Given the description of an element on the screen output the (x, y) to click on. 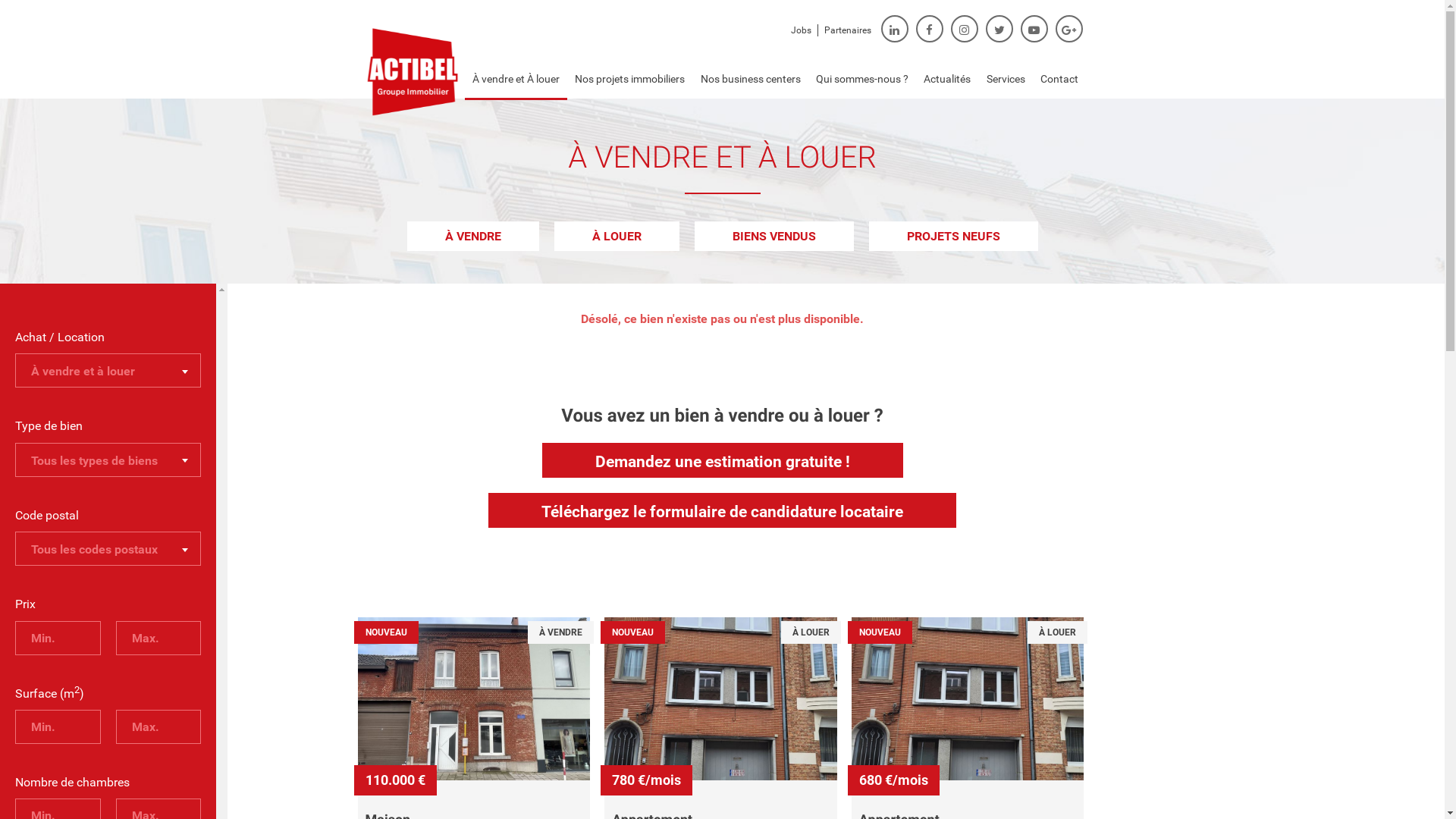
BIENS VENDUS Element type: text (773, 236)
Partenaires Element type: text (846, 30)
Demandez une estimation gratuite ! Element type: text (721, 460)
Jobs Element type: text (800, 30)
Services Element type: text (1005, 79)
Confirmer Element type: text (876, 345)
Nos business centers Element type: text (749, 79)
Nos projets immobiliers Element type: text (629, 79)
Contact Element type: text (1058, 79)
YouTube Element type: hover (1034, 28)
Instagram Element type: hover (964, 28)
Twitter Element type: hover (999, 28)
LinkedIn Element type: hover (894, 28)
Qui sommes-nous ? Element type: text (862, 79)
PROJETS NEUFS Element type: text (953, 236)
Facebook Element type: hover (929, 28)
